Given the description of an element on the screen output the (x, y) to click on. 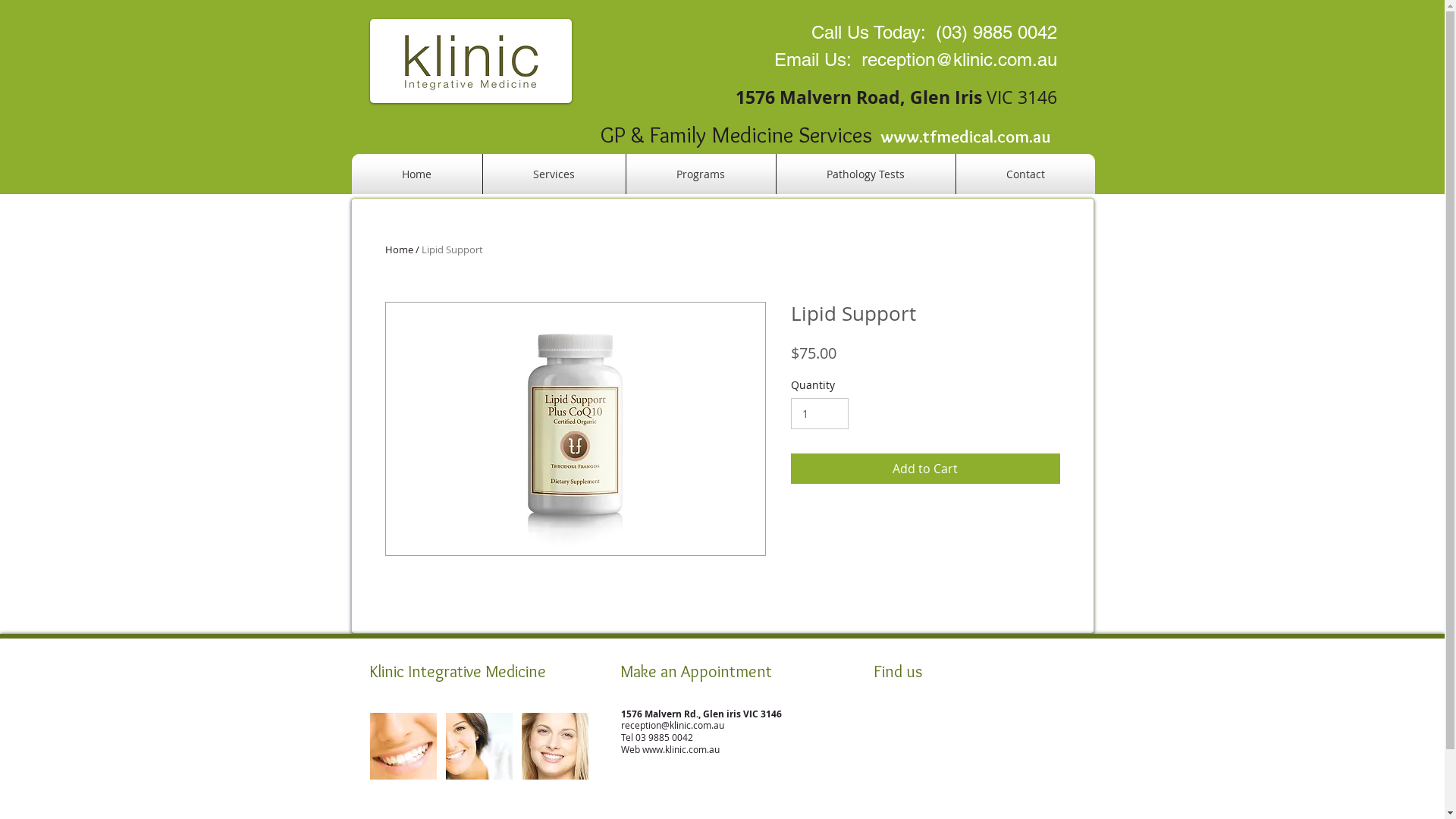
Home Element type: text (416, 173)
Lipid Support Element type: text (452, 249)
Make an Appointment Element type: text (695, 671)
Services Element type: text (553, 173)
Contact Element type: text (1024, 173)
Programs Element type: text (700, 173)
Add to Cart Element type: text (924, 468)
reception@klinic.com.au Element type: text (671, 724)
Web www.klinic.com.au Element type: text (669, 749)
reception@klinic.com.au Element type: text (959, 59)
Pathology Tests Element type: text (865, 173)
Home Element type: text (399, 249)
 www.tfmedical.com.au Element type: text (963, 136)
